Given the description of an element on the screen output the (x, y) to click on. 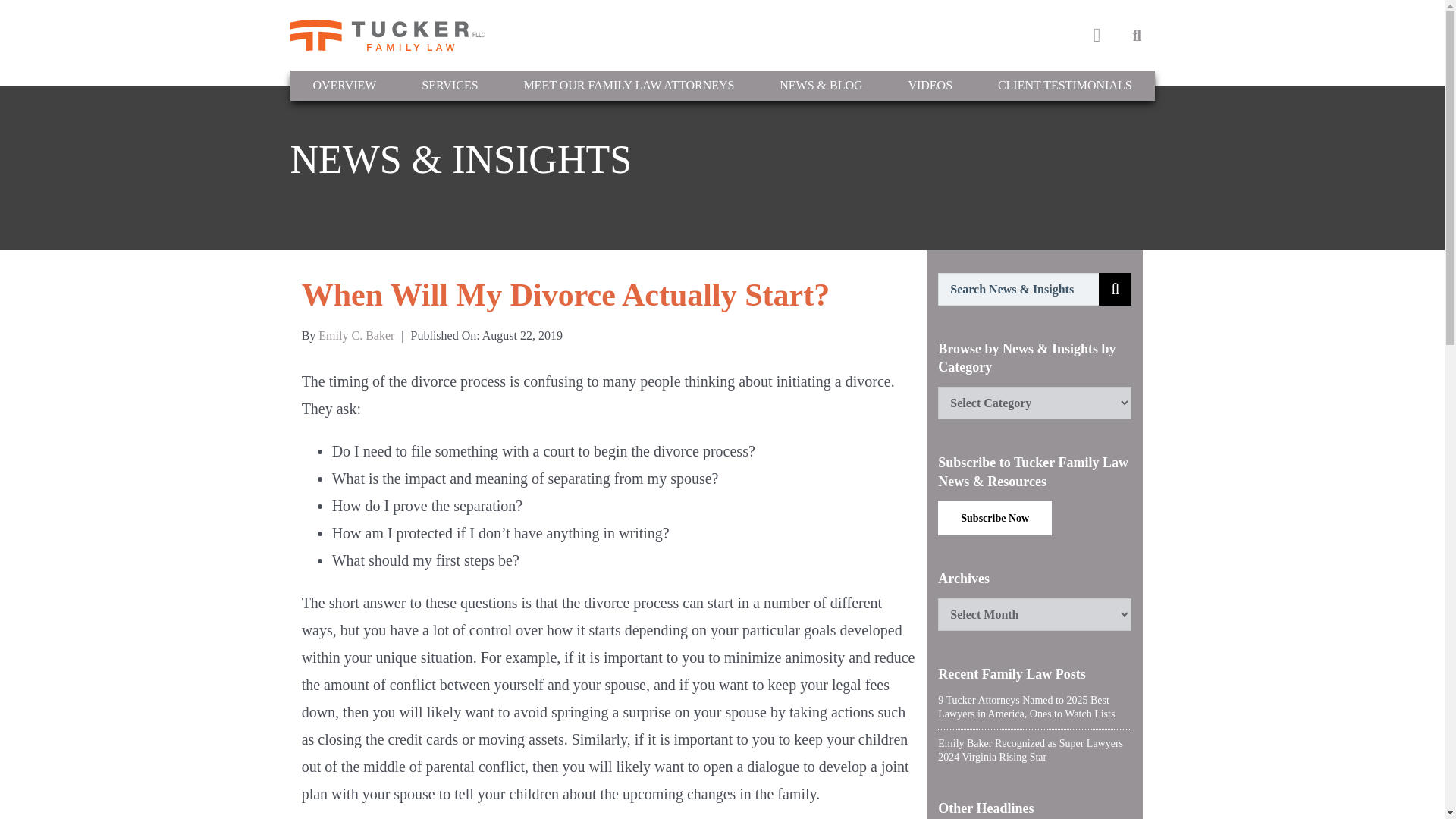
Posts by Emily C. Baker (356, 335)
OVERVIEW (343, 85)
SERVICES (449, 85)
